Given the description of an element on the screen output the (x, y) to click on. 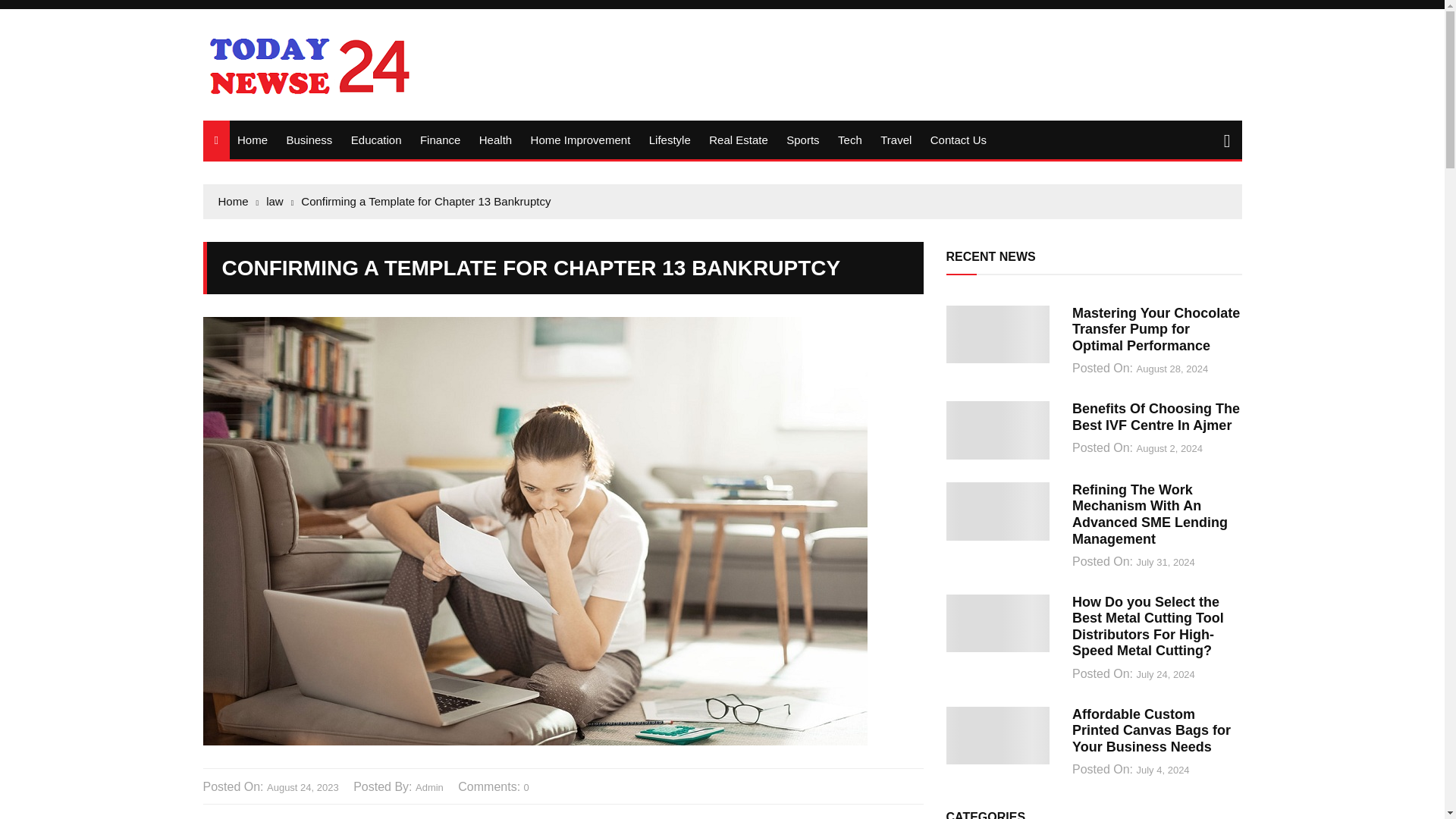
Health (495, 139)
Home Improvement (580, 139)
Benefits Of Choosing The Best IVF Centre In Ajmer (1155, 417)
August 2, 2024 (1168, 449)
Real Estate (738, 139)
Finance (439, 139)
Confirming a Template for Chapter 13 Bankruptcy (425, 201)
Home (238, 201)
Business (308, 139)
